Given the description of an element on the screen output the (x, y) to click on. 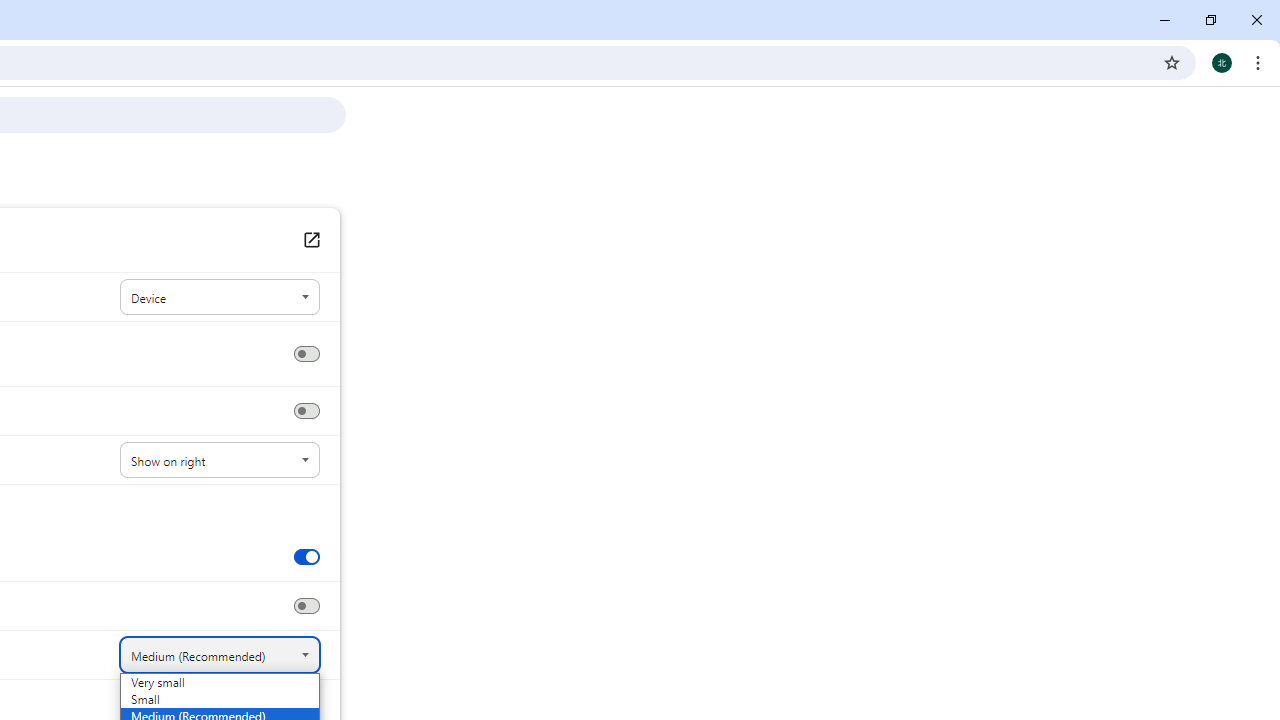
Very small (194, 682)
Customize fonts (310, 703)
Small (194, 699)
Show bookmarks bar (306, 411)
Show tab memory usage (306, 606)
Side panel position (219, 460)
Font size (219, 655)
Theme Open Chrome Web Store (310, 240)
Mode (219, 297)
Show home button (306, 354)
